Given the description of an element on the screen output the (x, y) to click on. 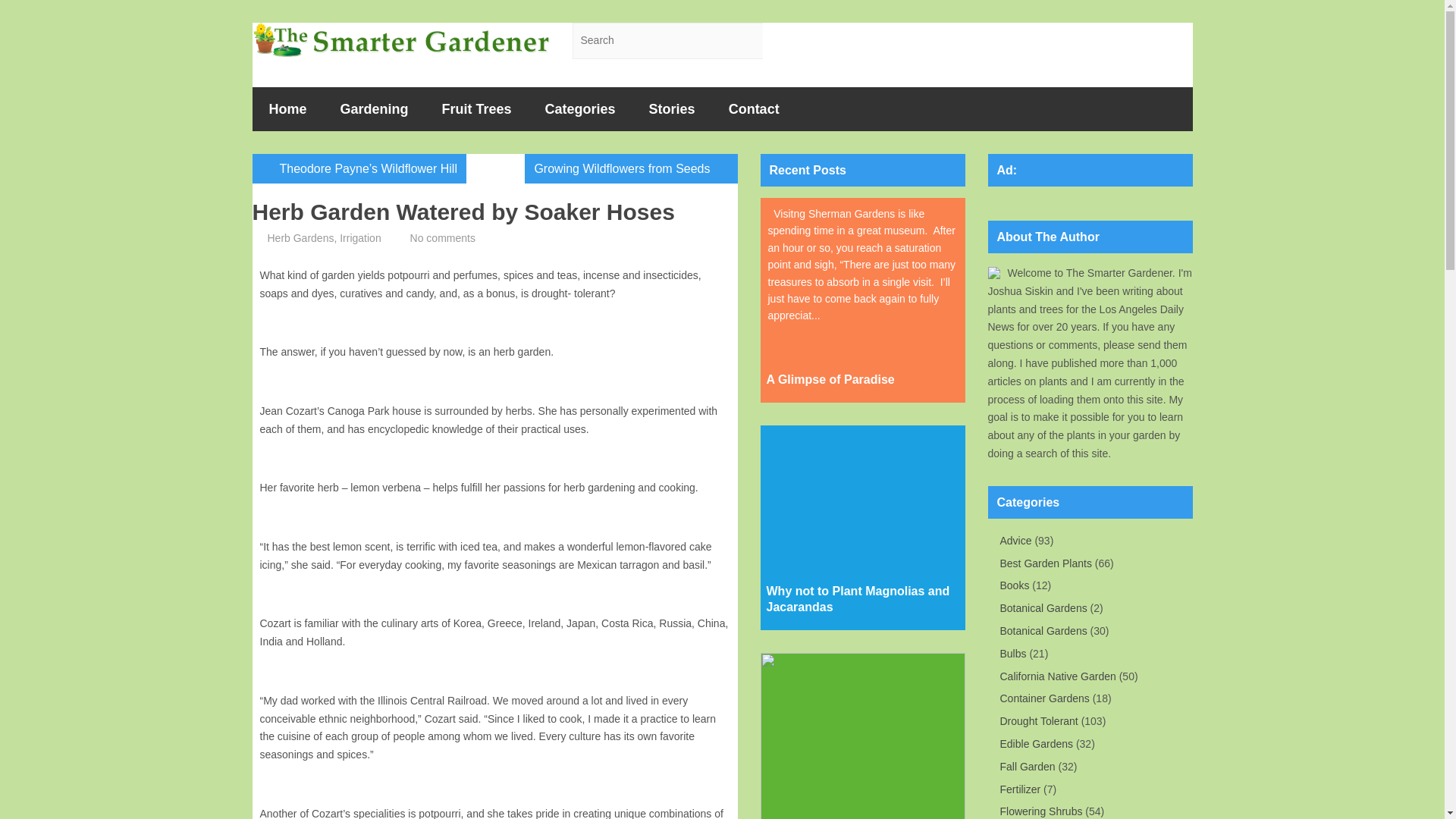
Botanical Gardens (1042, 630)
Search (780, 40)
Irrigation (359, 237)
Fruit Trees (476, 108)
Container Gardens (1043, 698)
Search (780, 40)
Contact (753, 108)
Growing Wildflowers from Seeds (631, 168)
California Native Garden (1056, 676)
The Smarter Gardener (399, 39)
